Given the description of an element on the screen output the (x, y) to click on. 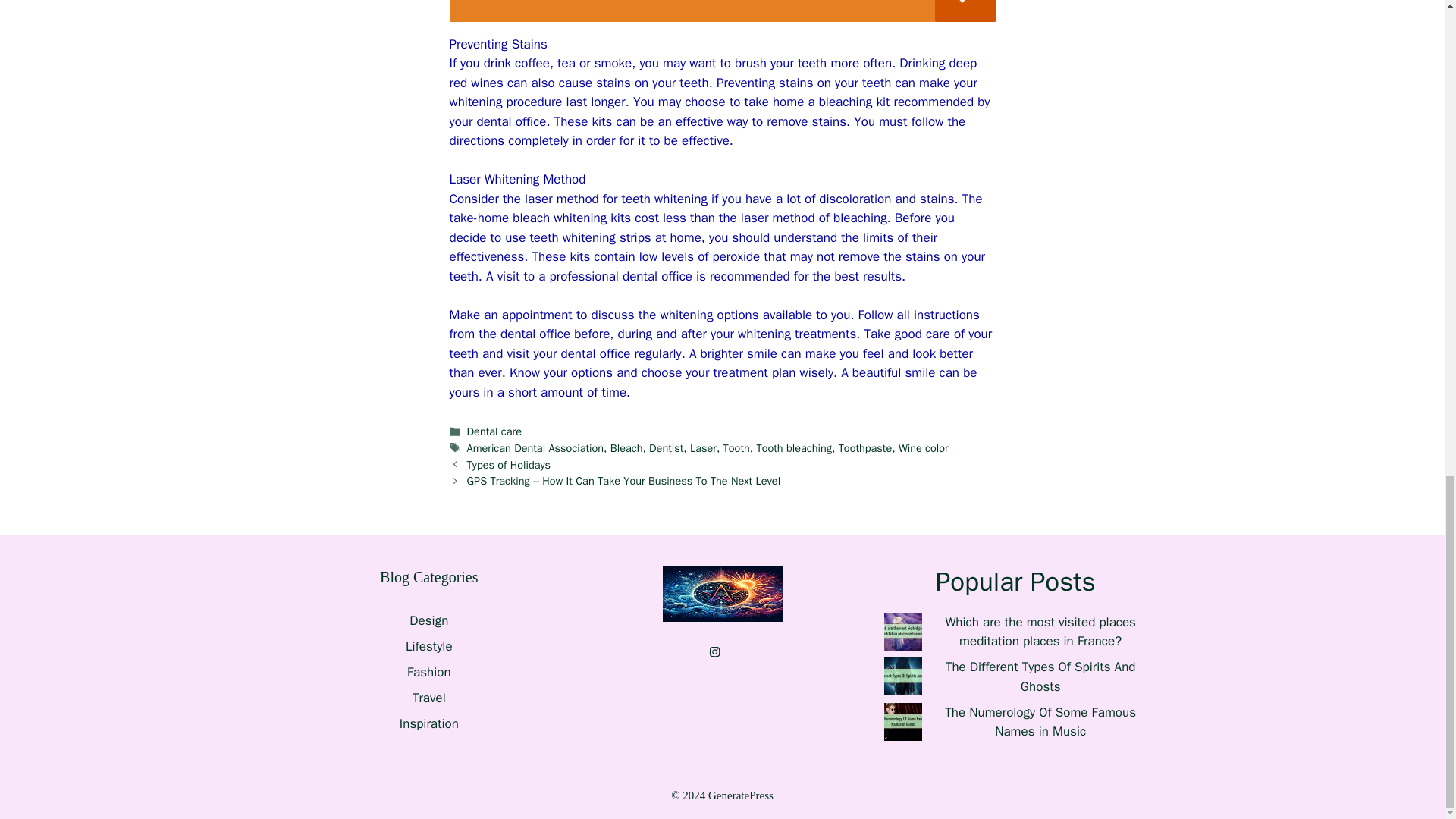
Bleach (626, 448)
American Dental Association (535, 448)
Fashion (429, 672)
Design (428, 620)
Toothpaste (865, 448)
Dentist (665, 448)
Inspiration (428, 723)
Travel (428, 697)
Wine color (923, 448)
Tooth bleaching (793, 448)
